Given the description of an element on the screen output the (x, y) to click on. 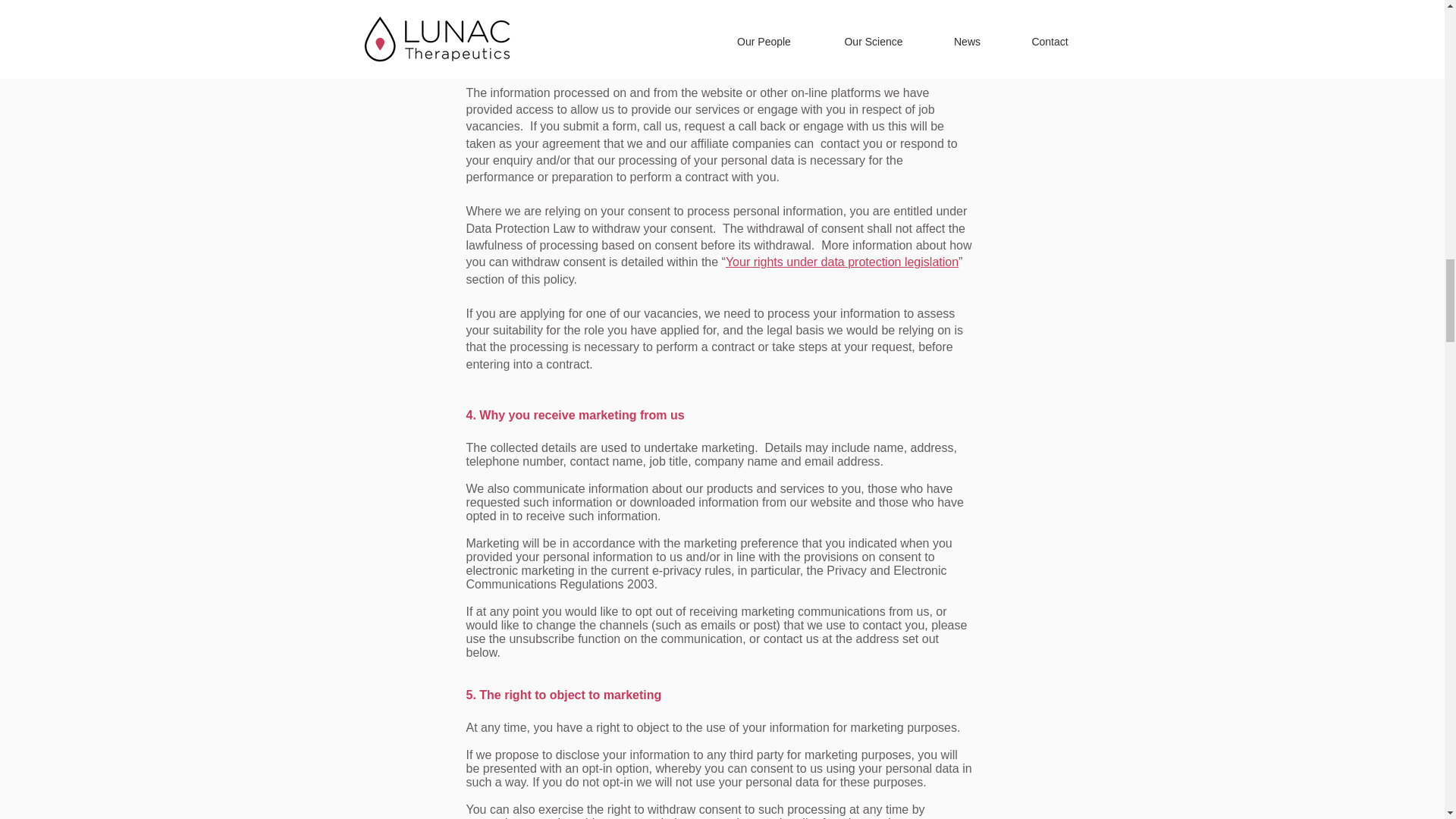
Your rights under data protection legislation (841, 261)
